Given the description of an element on the screen output the (x, y) to click on. 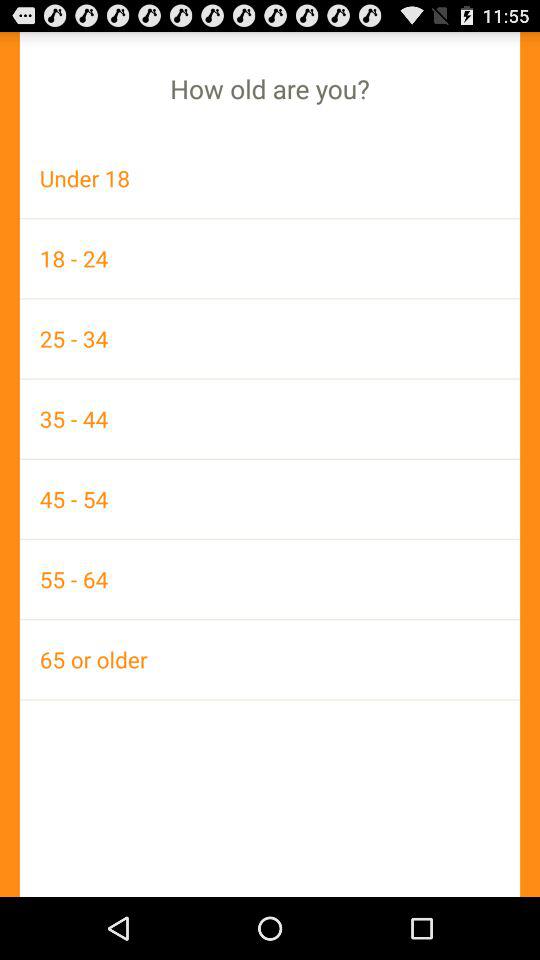
click the item above the 65 or older (269, 579)
